Given the description of an element on the screen output the (x, y) to click on. 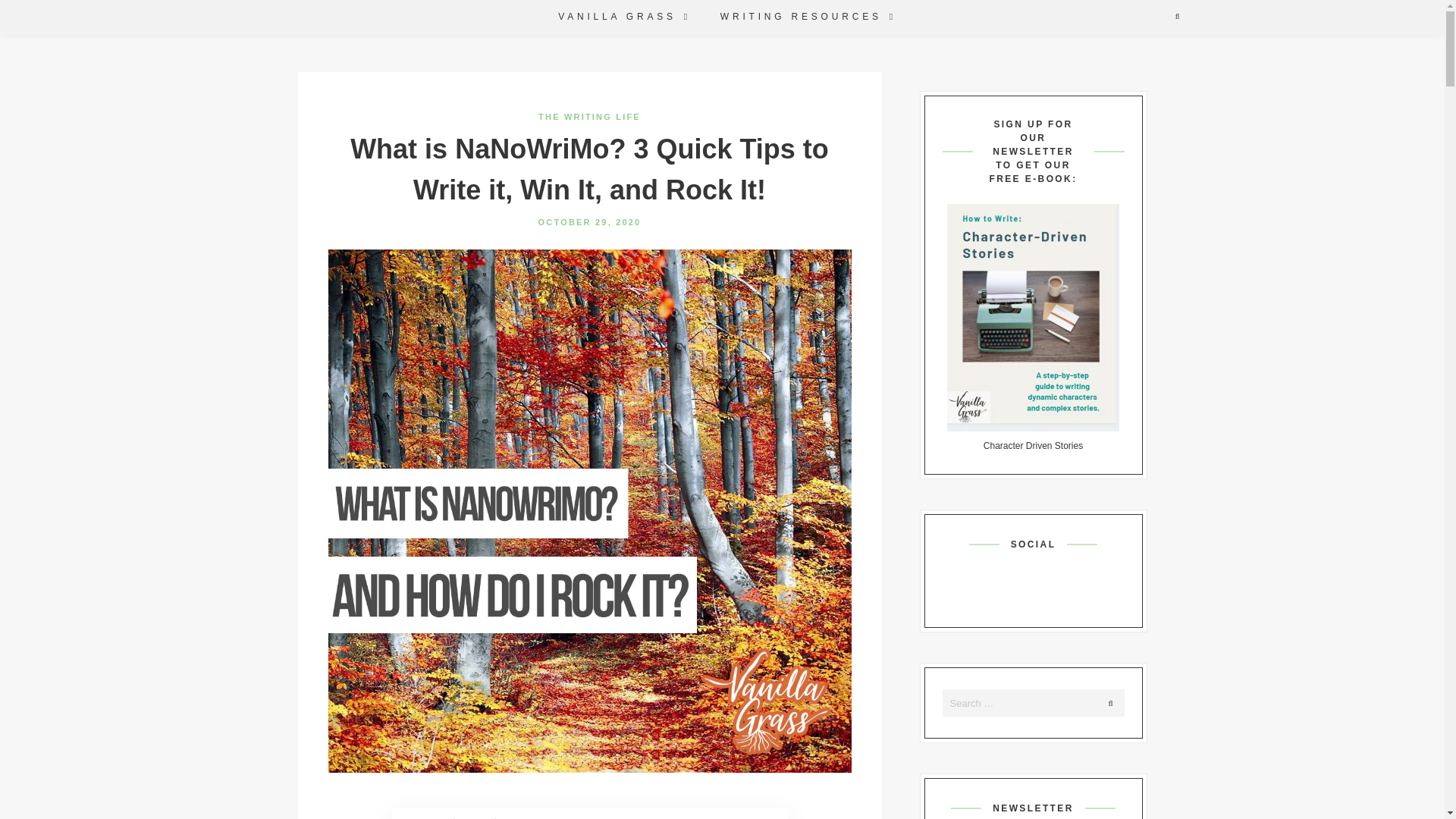
VANILLA GRASS (615, 17)
THE WRITING LIFE (589, 116)
Vanilla Grass One-Stop Writing Resource (615, 17)
WRITING RESOURCES (798, 17)
